Given the description of an element on the screen output the (x, y) to click on. 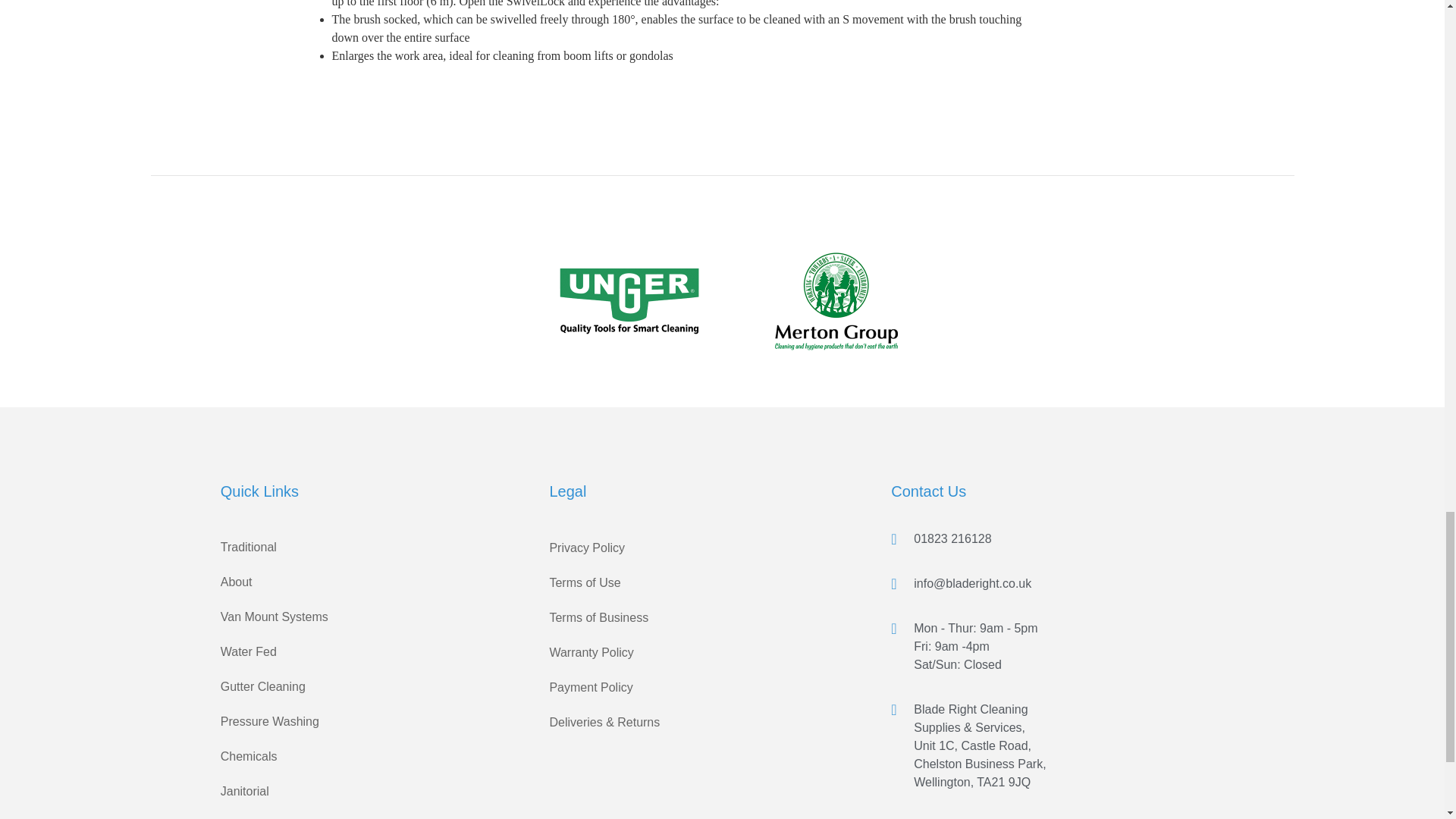
Unger Logo (628, 300)
Merton Group Logo (836, 300)
